Given the description of an element on the screen output the (x, y) to click on. 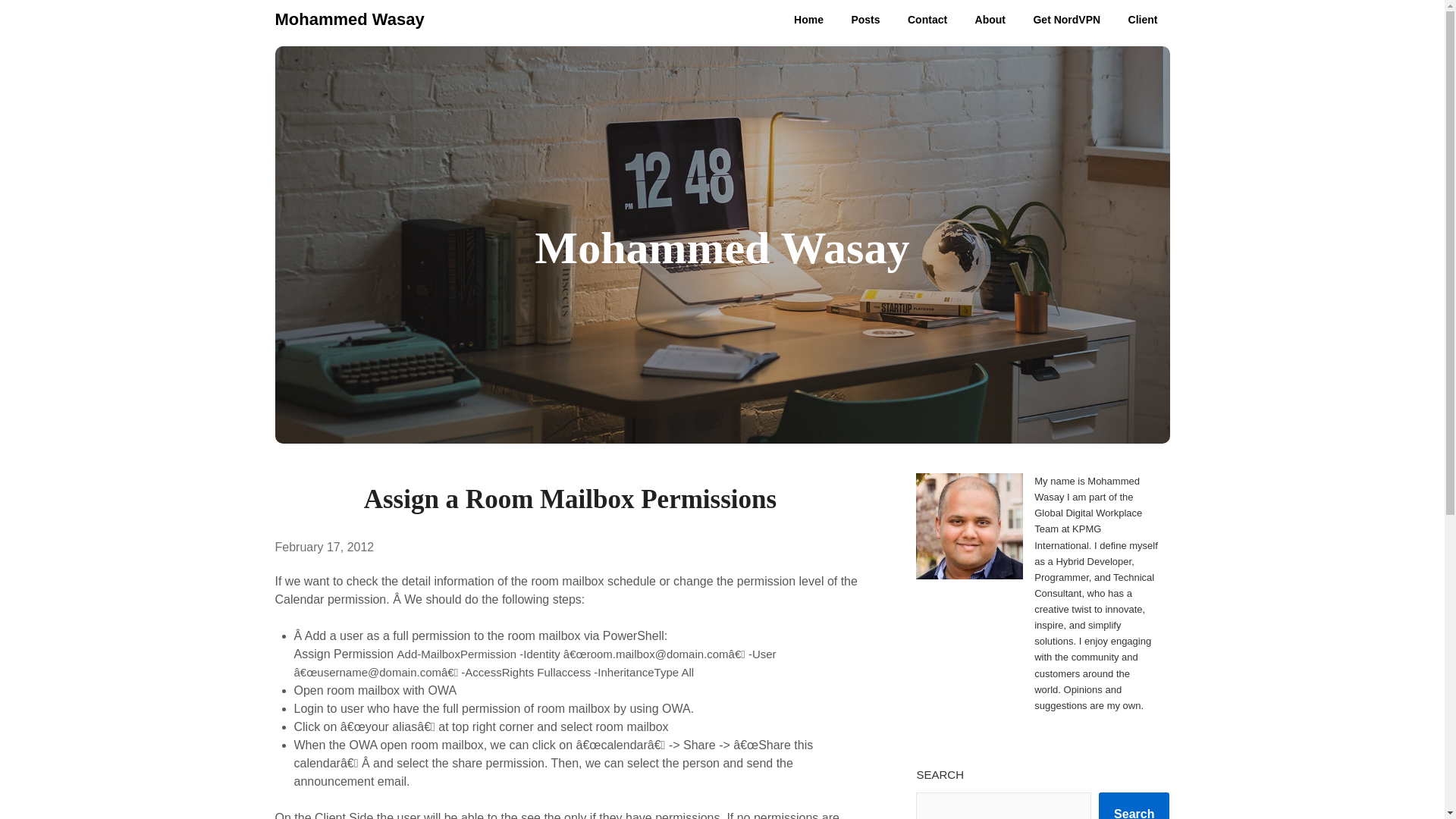
Client (1143, 20)
Posts (864, 20)
Search (1134, 805)
Mohammed Wasay (349, 19)
Contact (927, 20)
Home (808, 20)
February 17, 2012 (324, 546)
About (989, 20)
Get NordVPN (1066, 20)
